Given the description of an element on the screen output the (x, y) to click on. 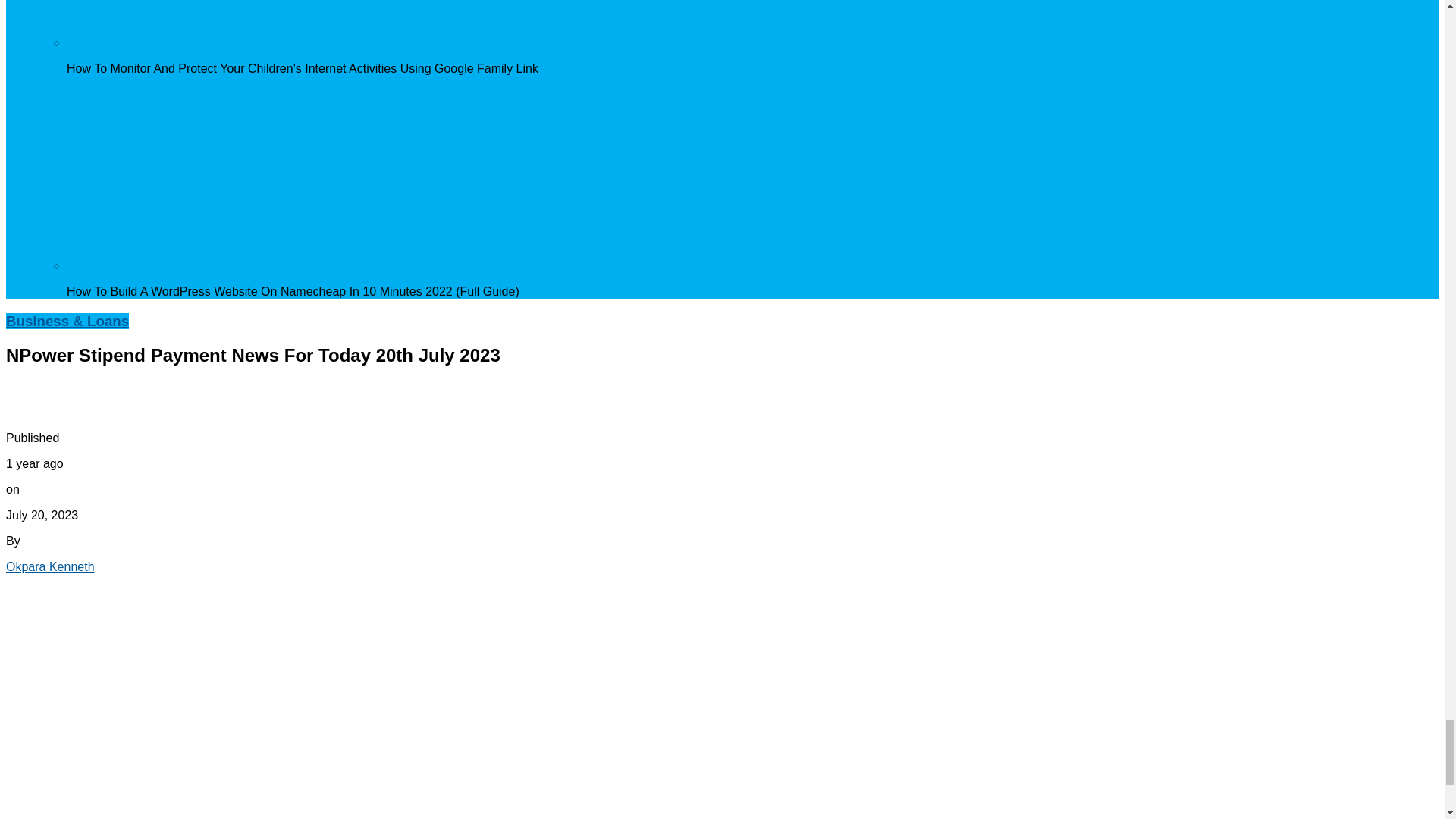
Posts by Okpara Kenneth (49, 566)
